Given the description of an element on the screen output the (x, y) to click on. 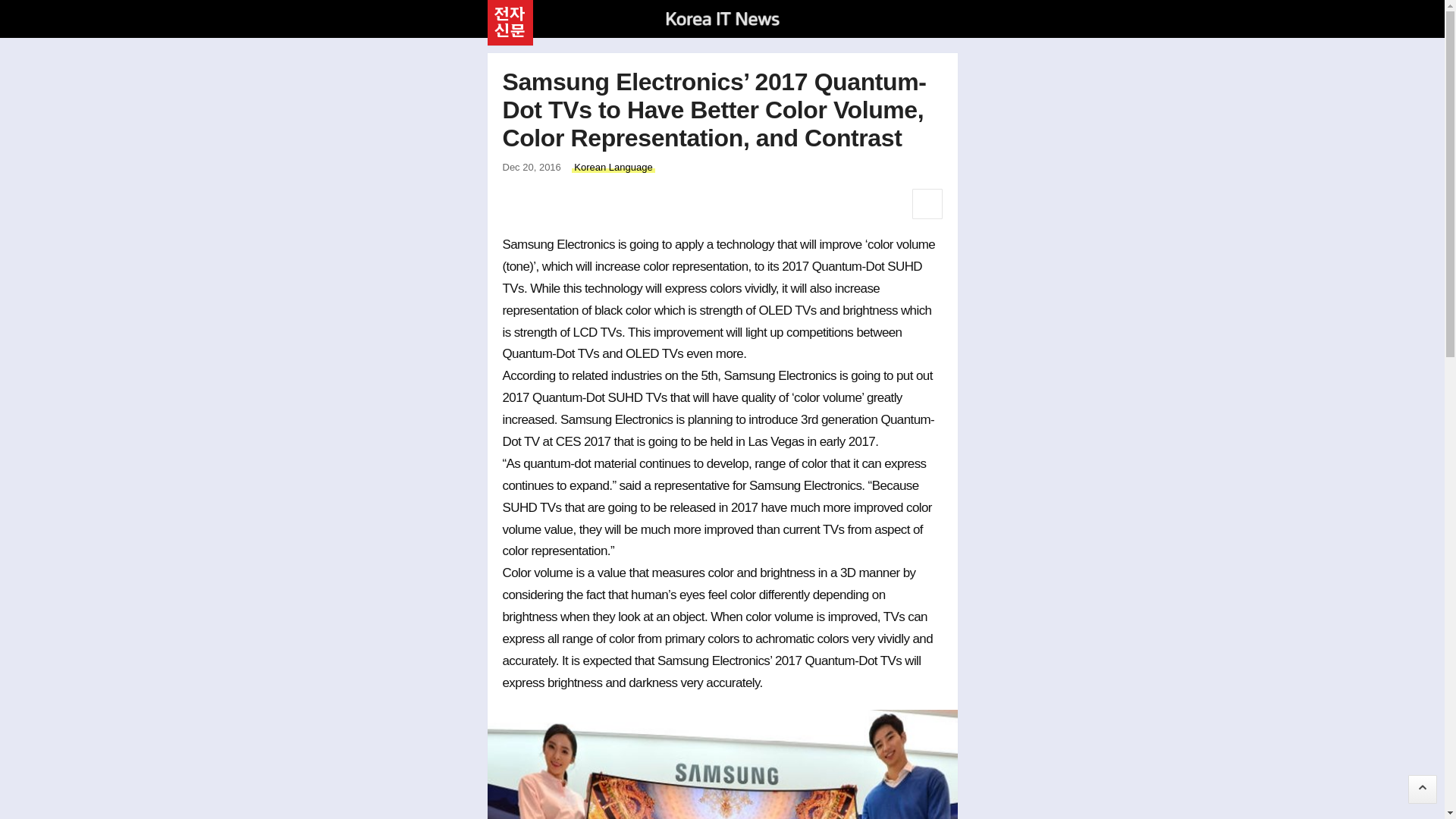
Korean Electronic Times (509, 21)
Facebook (517, 204)
Korea IT News (721, 17)
go TOP (1422, 788)
Korean Language (612, 166)
Twitter (552, 204)
linkedin (584, 204)
Copy URL To Clipboard (619, 204)
Menu (940, 17)
